Given the description of an element on the screen output the (x, y) to click on. 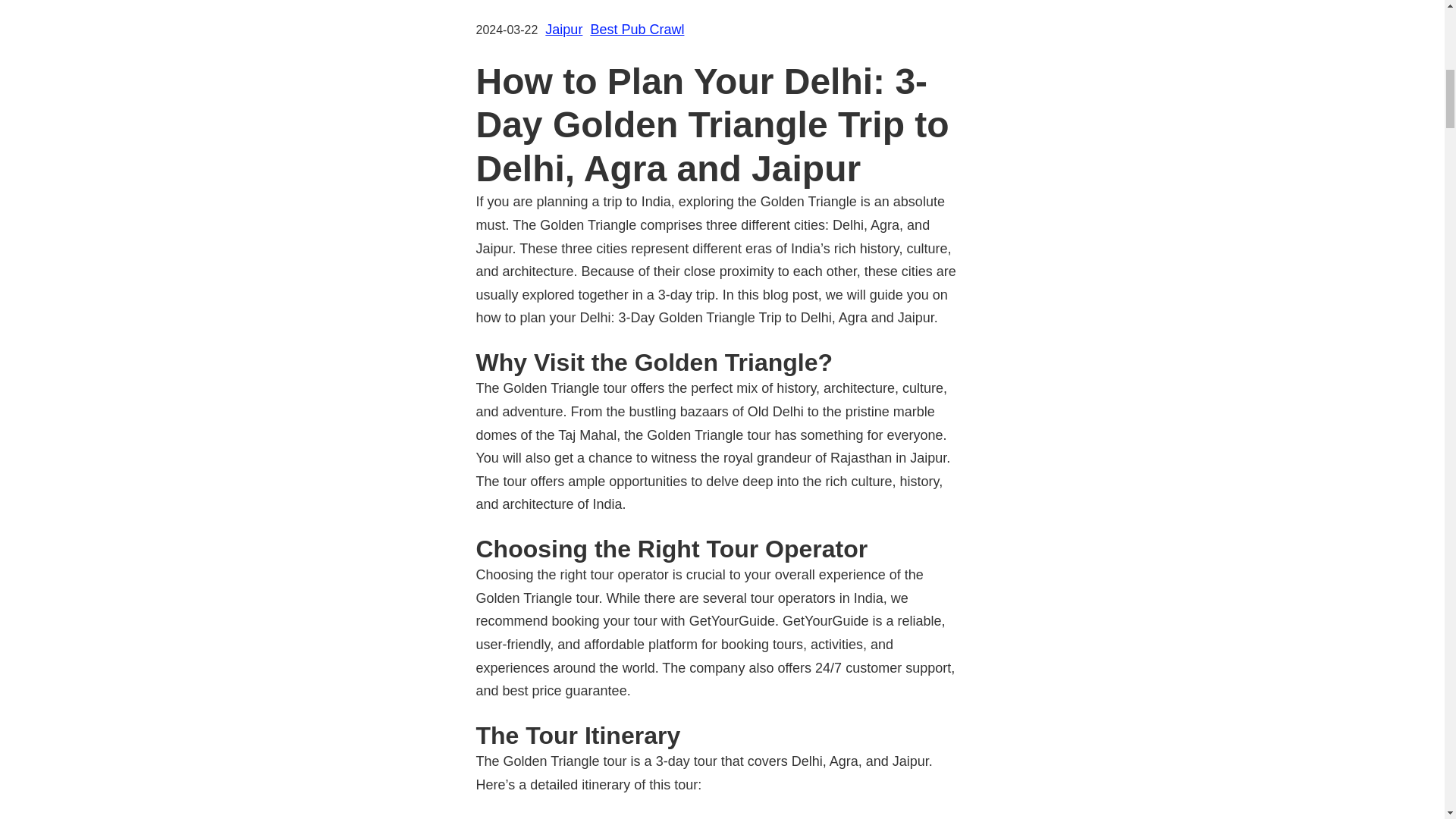
Best Pub Crawl (636, 29)
Jaipur (563, 29)
